Given the description of an element on the screen output the (x, y) to click on. 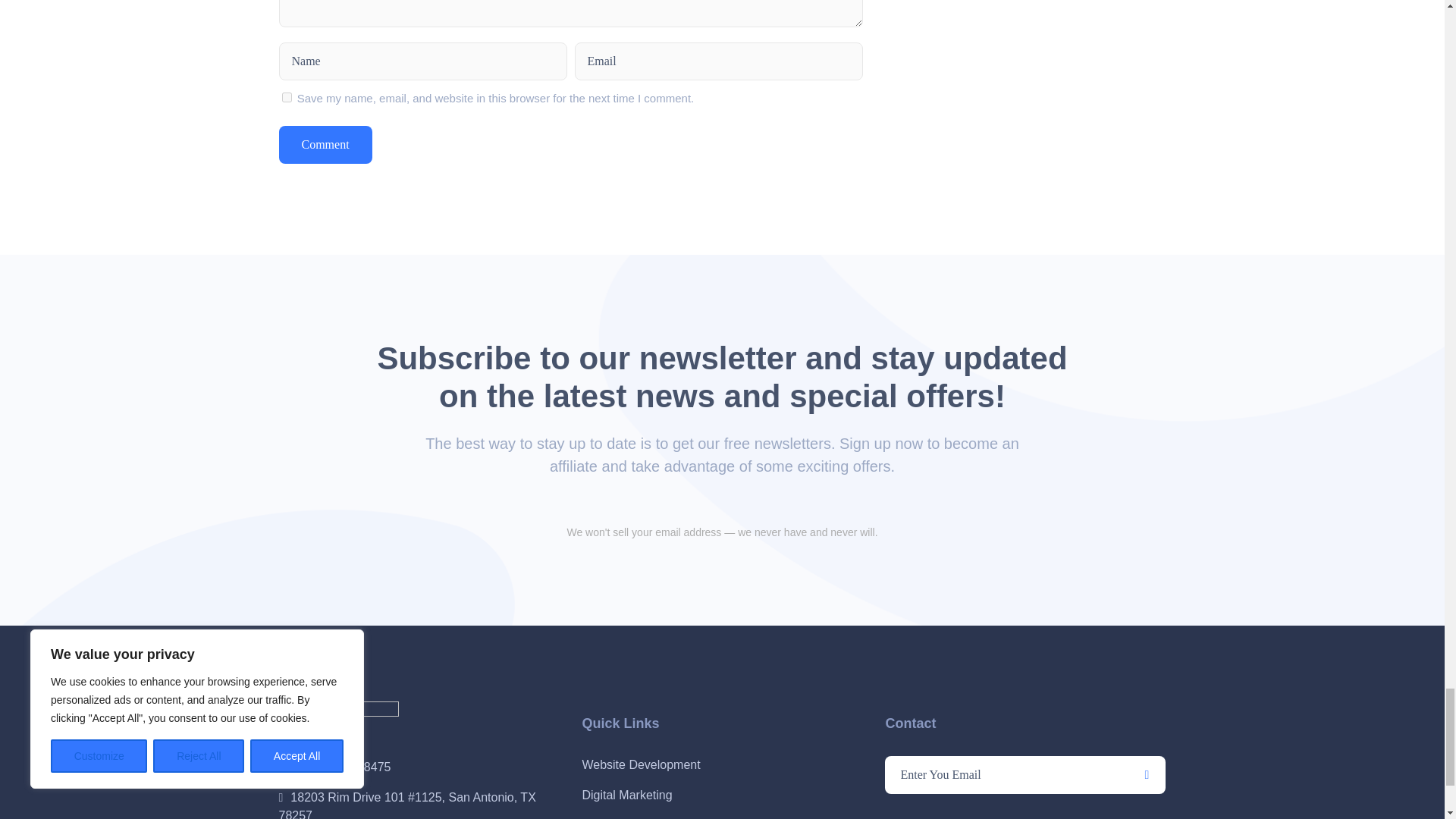
yes (287, 97)
Comment (325, 144)
